Given the description of an element on the screen output the (x, y) to click on. 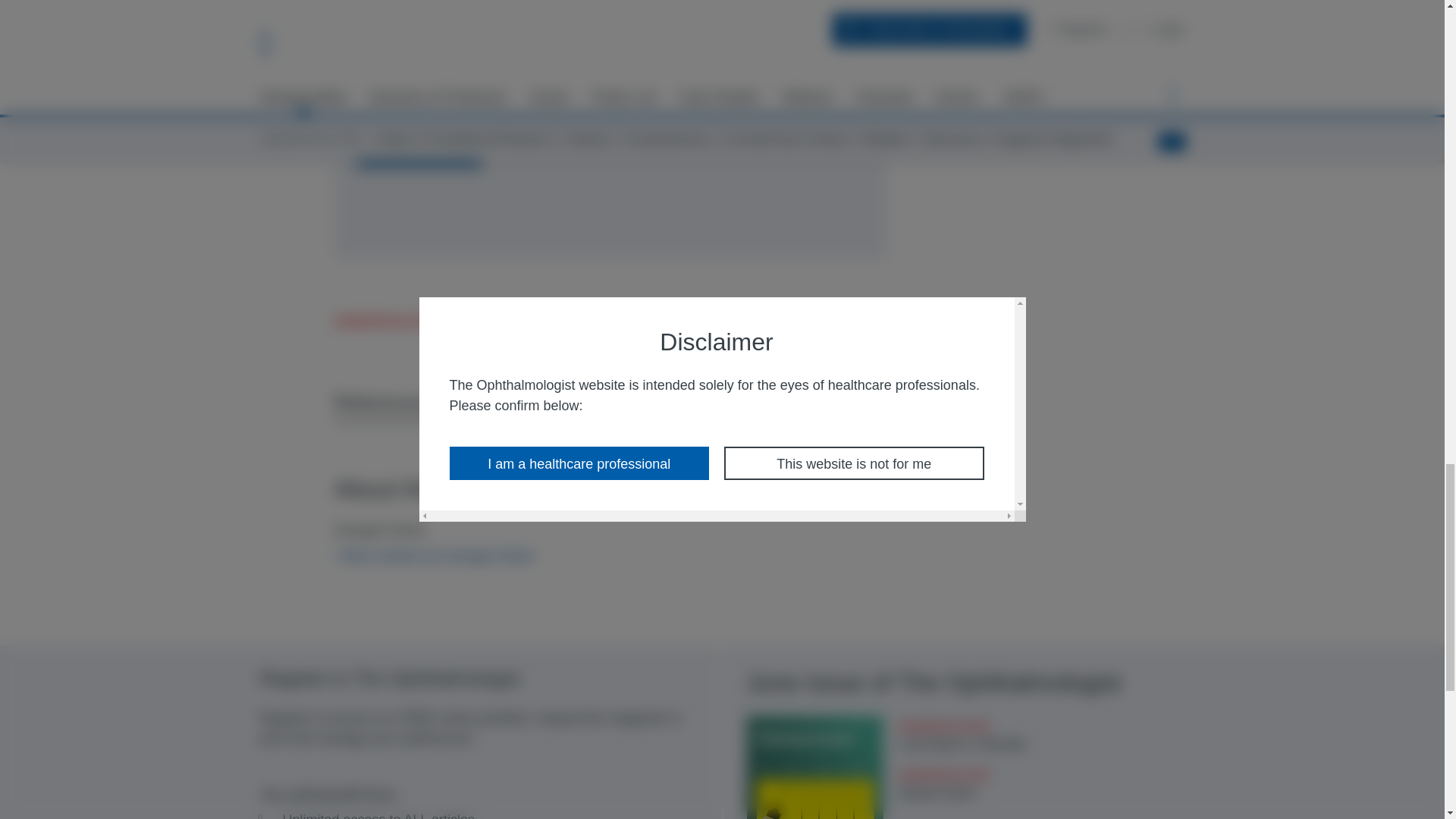
Subscribe (418, 150)
